Given the description of an element on the screen output the (x, y) to click on. 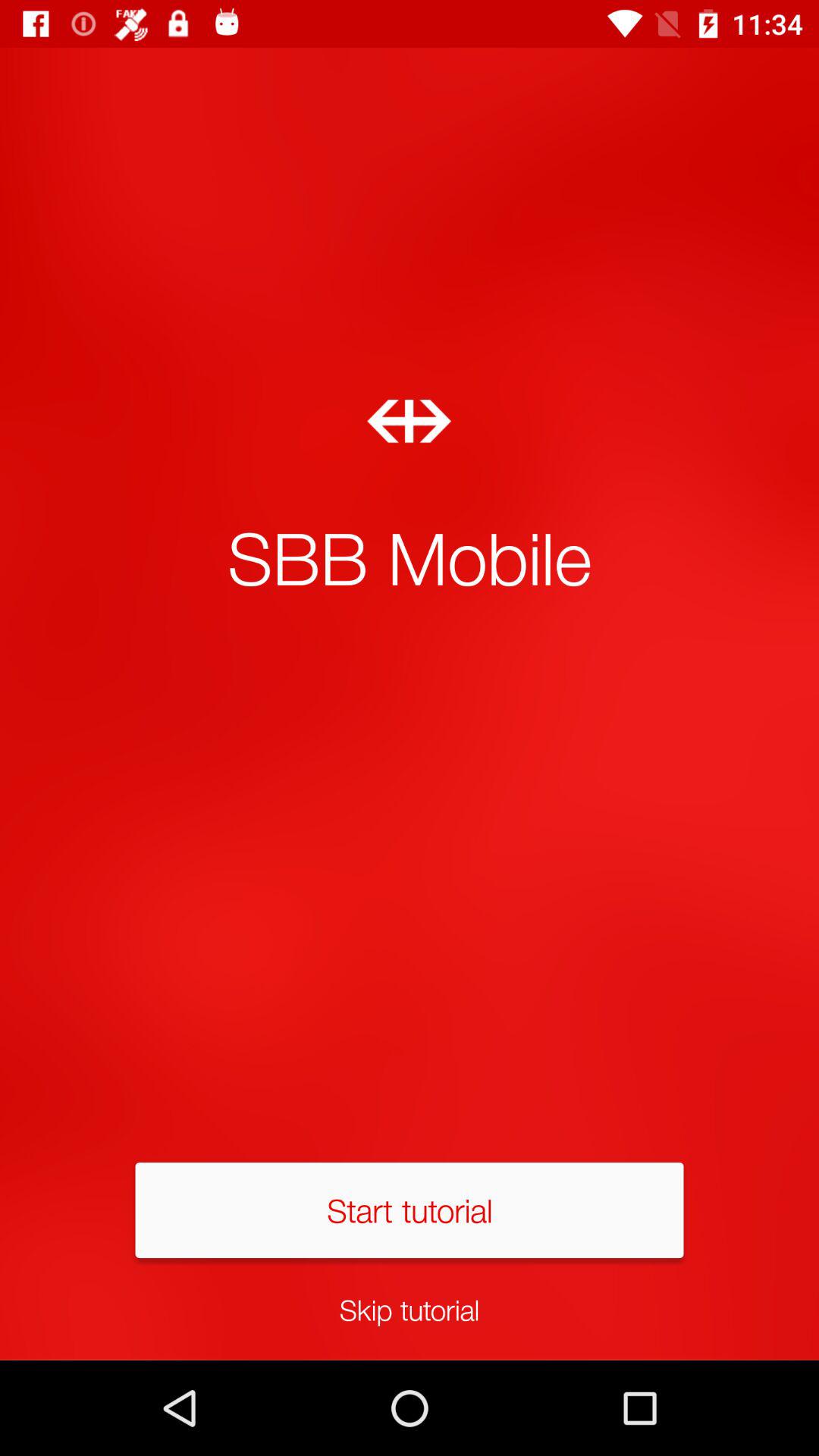
flip to start tutorial item (409, 1210)
